Given the description of an element on the screen output the (x, y) to click on. 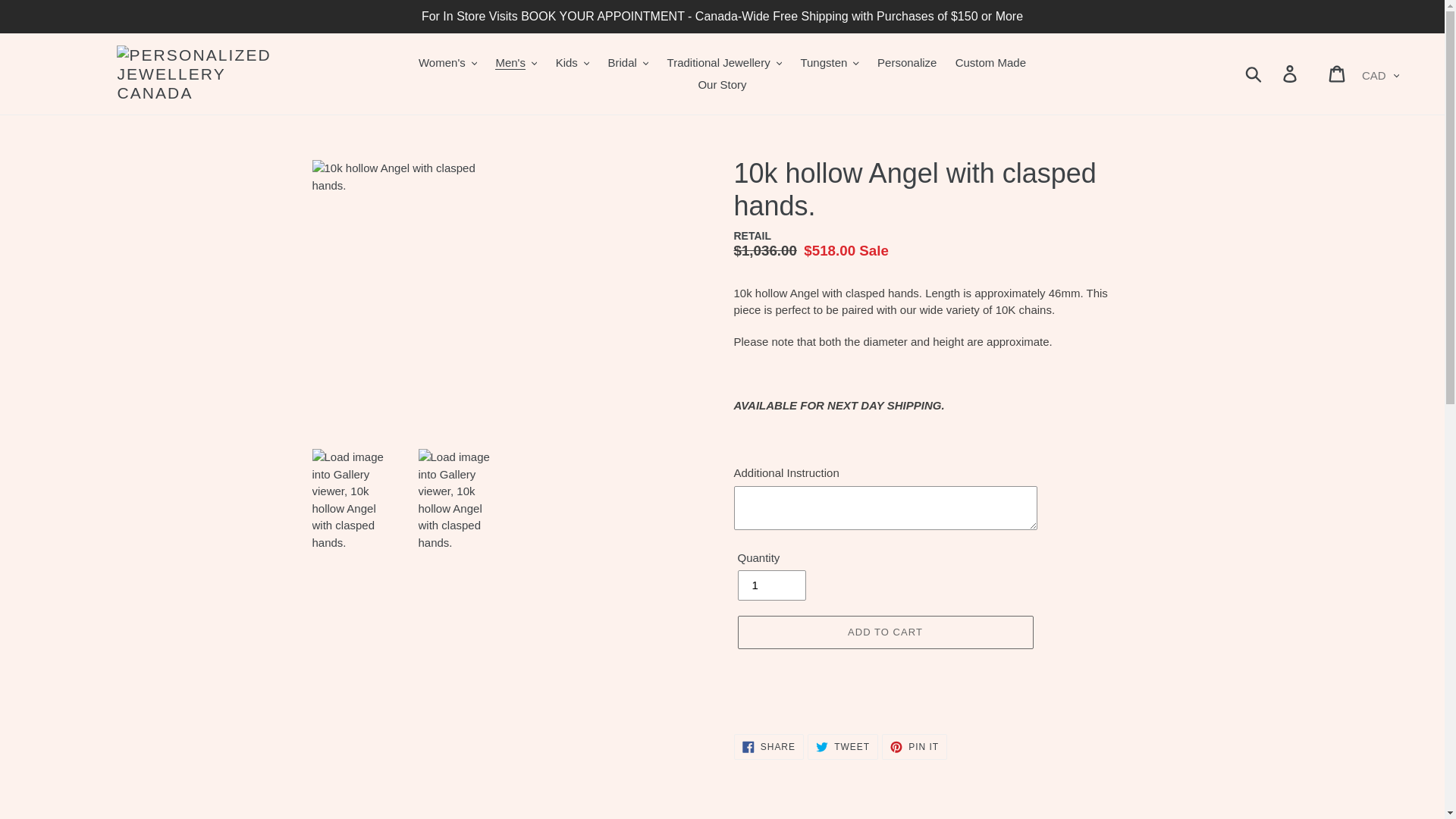
1 (770, 585)
